Given the description of an element on the screen output the (x, y) to click on. 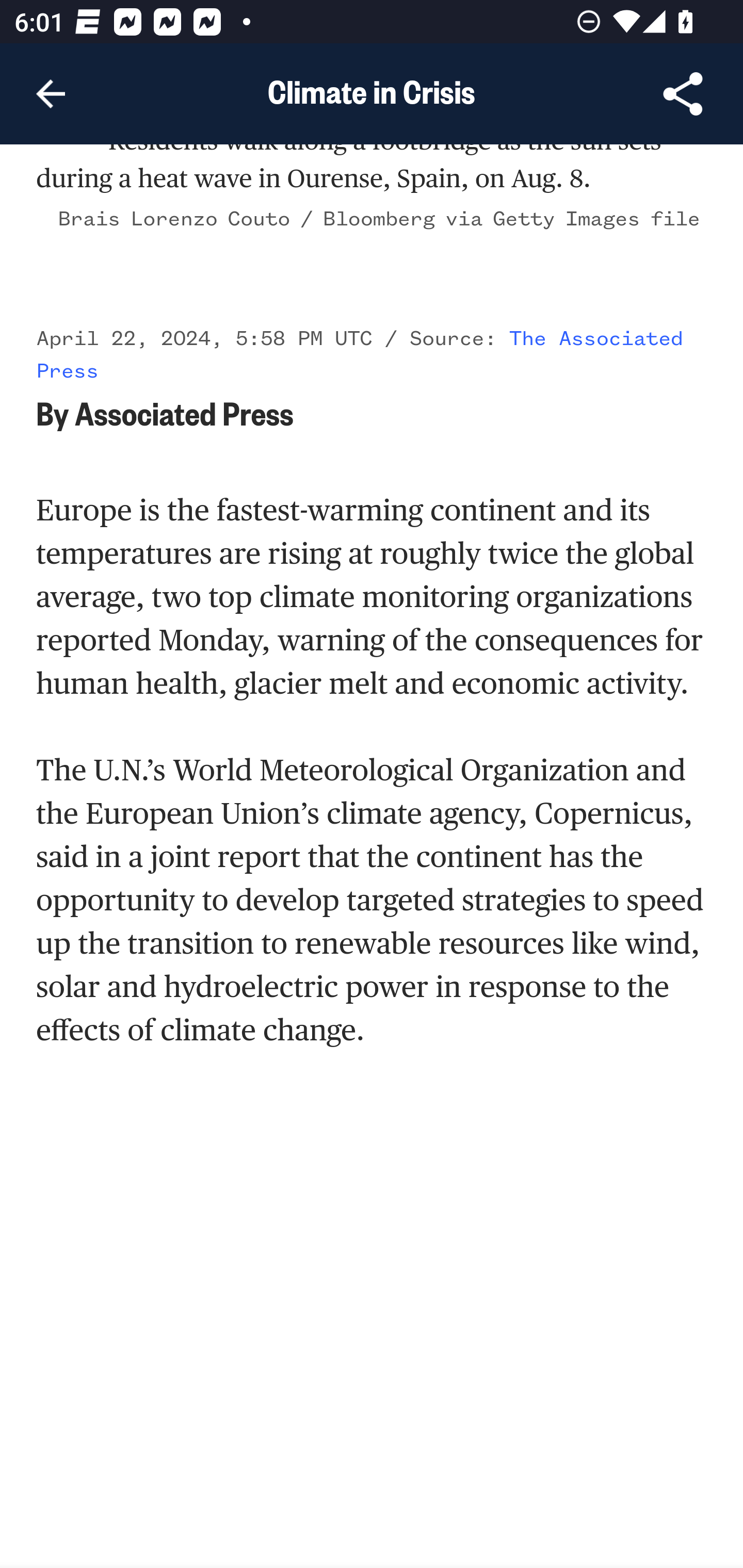
Navigate up (50, 93)
Share Article, button (683, 94)
The Associated Press (360, 355)
